Given the description of an element on the screen output the (x, y) to click on. 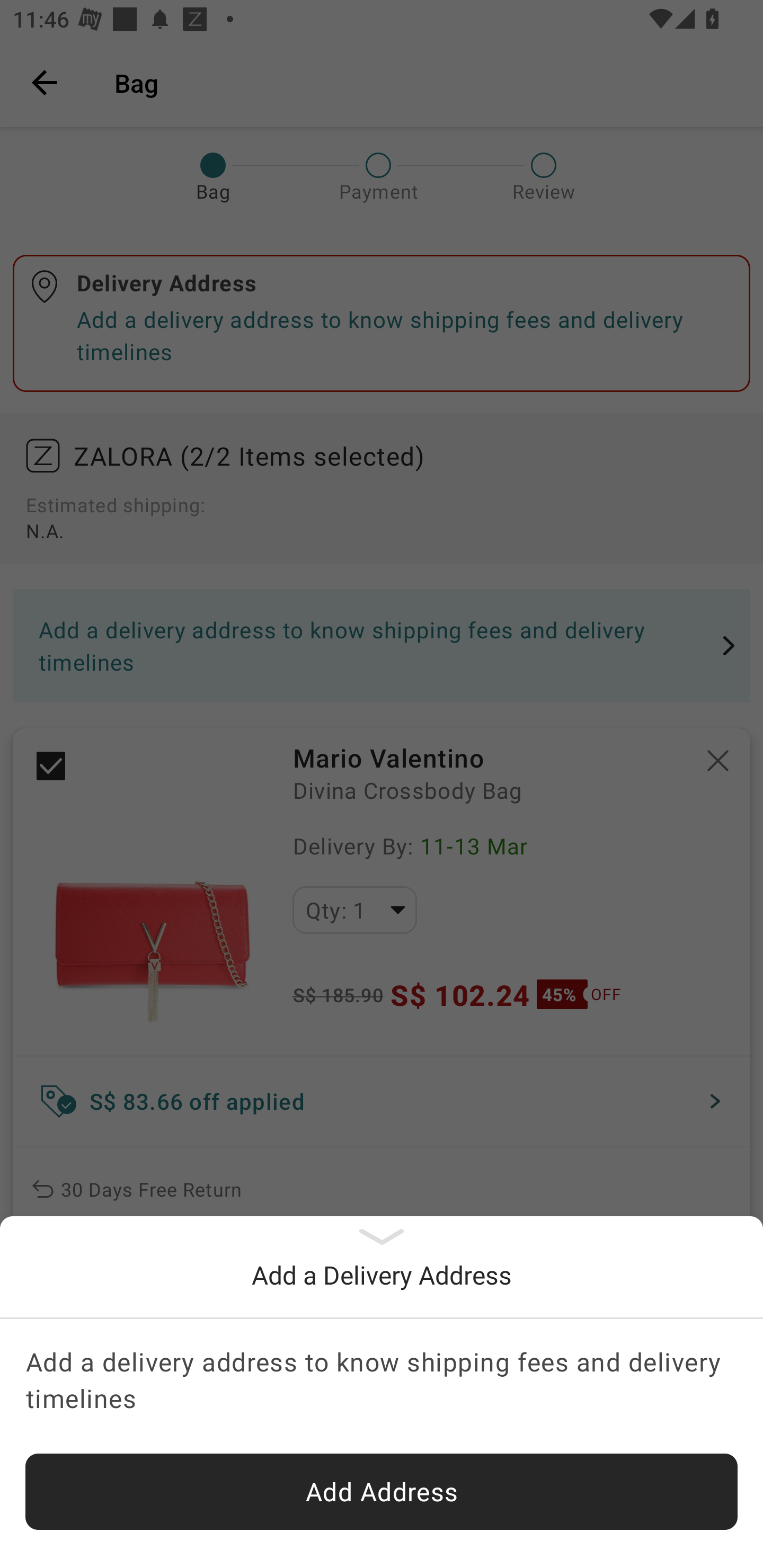
Add Address (381, 1491)
